Given the description of an element on the screen output the (x, y) to click on. 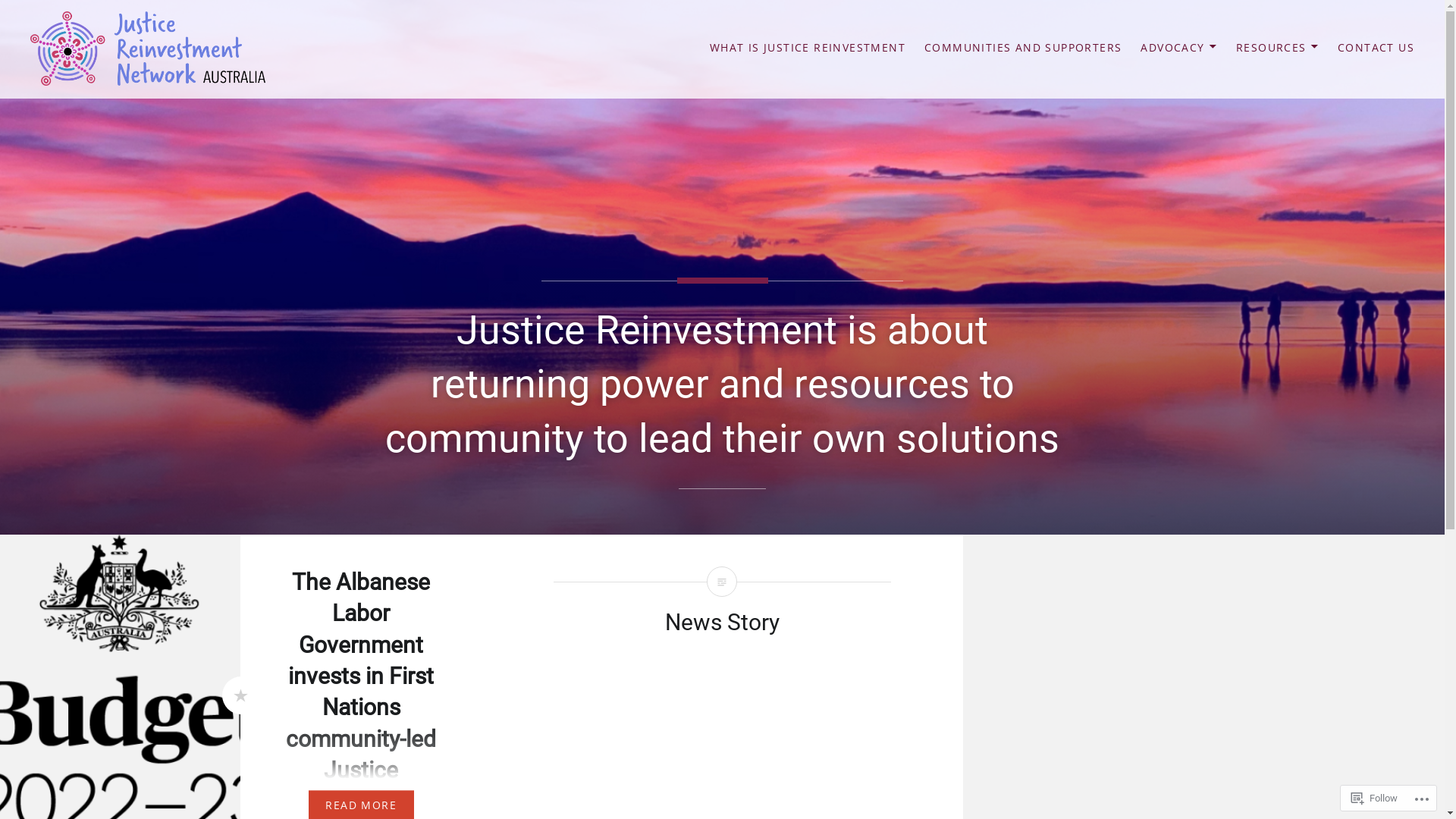
RESOURCES Element type: text (1277, 47)
Follow Element type: text (1374, 797)
WHAT IS JUSTICE REINVESTMENT Element type: text (807, 47)
News Story Element type: text (722, 621)
CONTACT US Element type: text (1375, 47)
COMMUNITIES AND SUPPORTERS Element type: text (1022, 47)
Justice Reinvestment Network Australia Element type: text (231, 100)
ADVOCACY Element type: text (1178, 47)
